Given the description of an element on the screen output the (x, y) to click on. 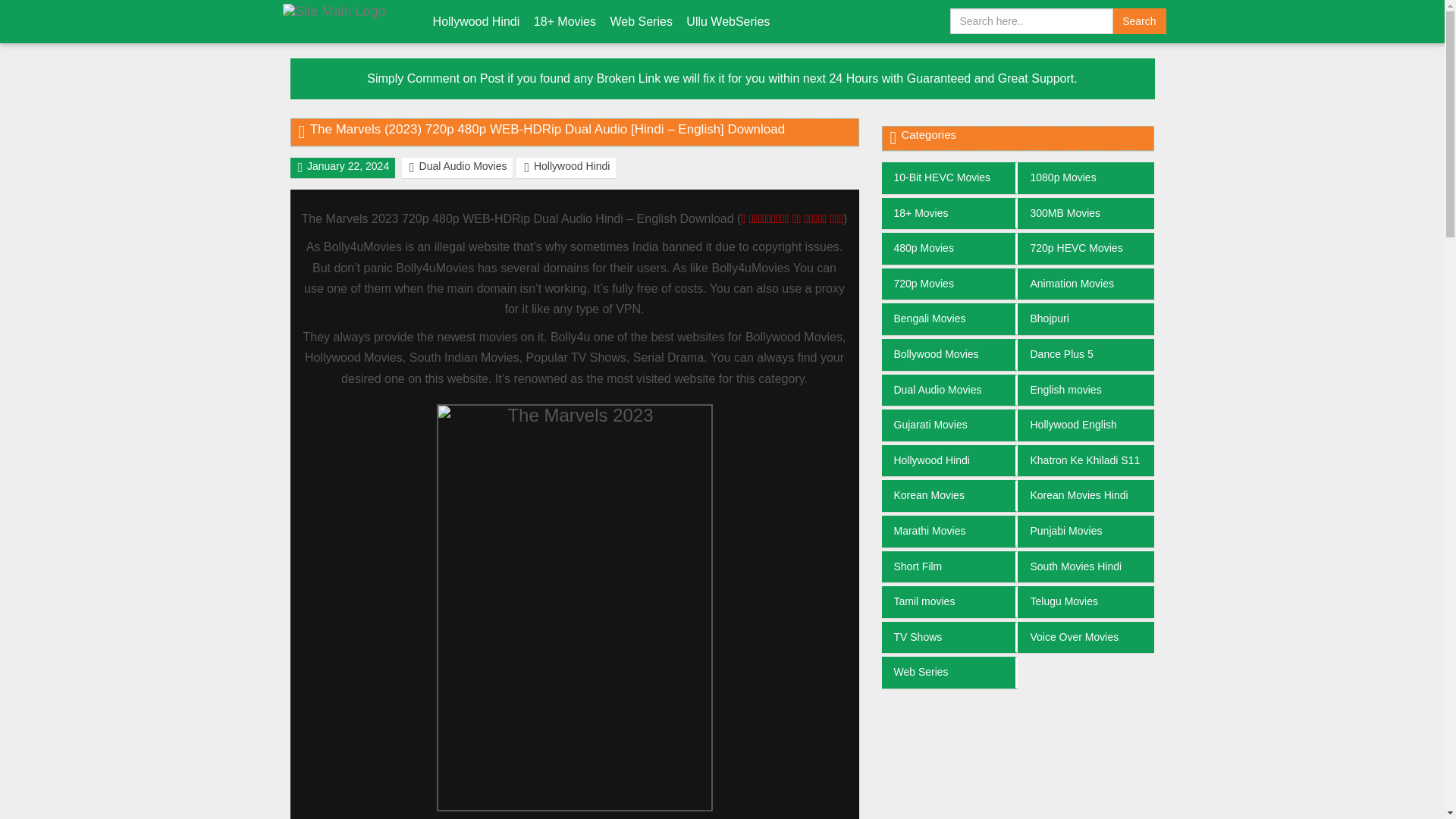
Hollywood Hindi (475, 21)
Ullu WebSeries (727, 21)
Web Series (640, 21)
